Given the description of an element on the screen output the (x, y) to click on. 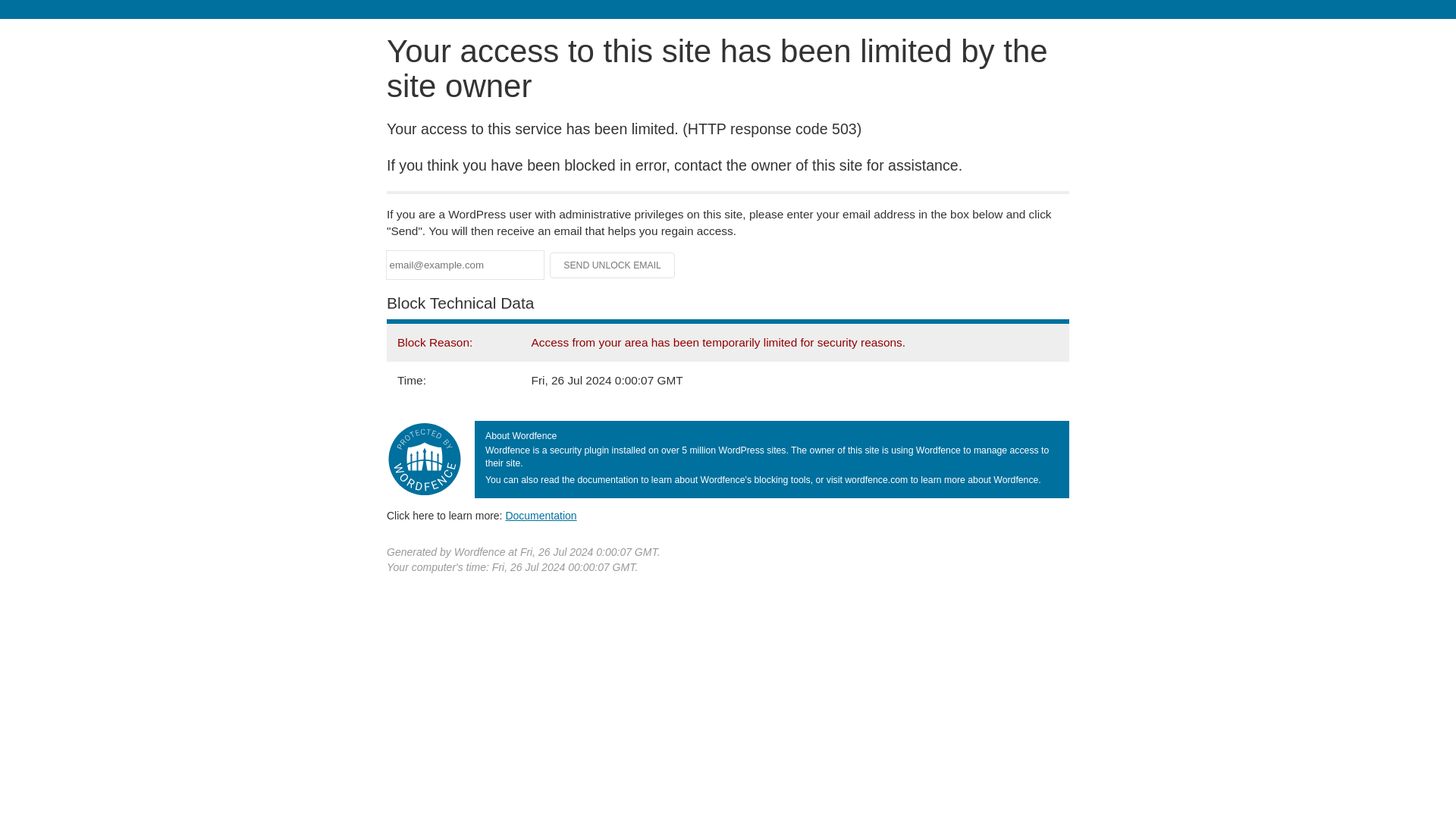
Send Unlock Email (612, 265)
Send Unlock Email (612, 265)
Documentation (540, 515)
